Given the description of an element on the screen output the (x, y) to click on. 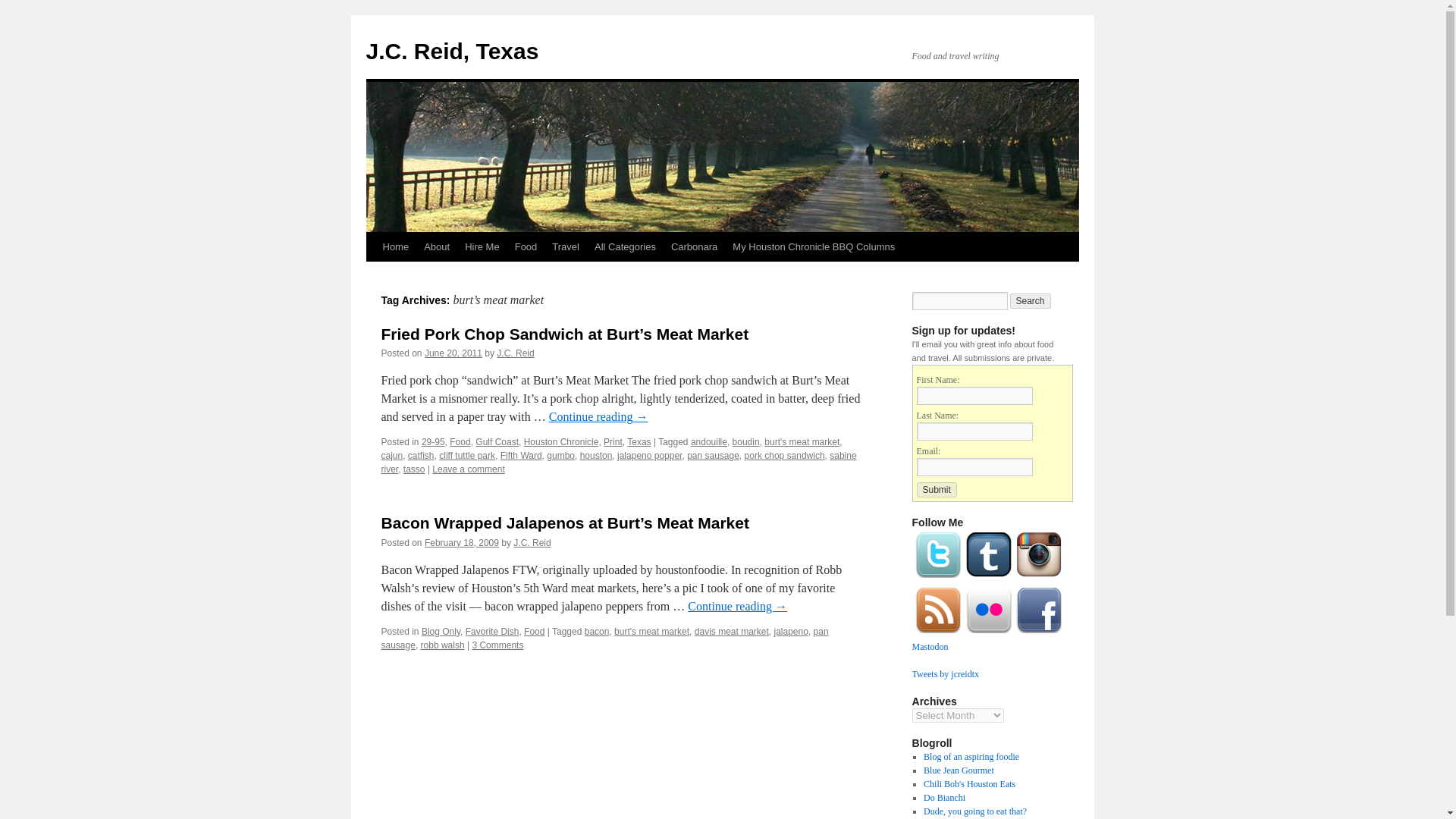
J.C. Reid, Texas (451, 50)
Food (525, 246)
Search (1030, 300)
About (436, 246)
Home (395, 246)
Submit (935, 489)
All Categories (624, 246)
Hire Me (481, 246)
RSS (936, 633)
Twitter (936, 577)
